Given the description of an element on the screen output the (x, y) to click on. 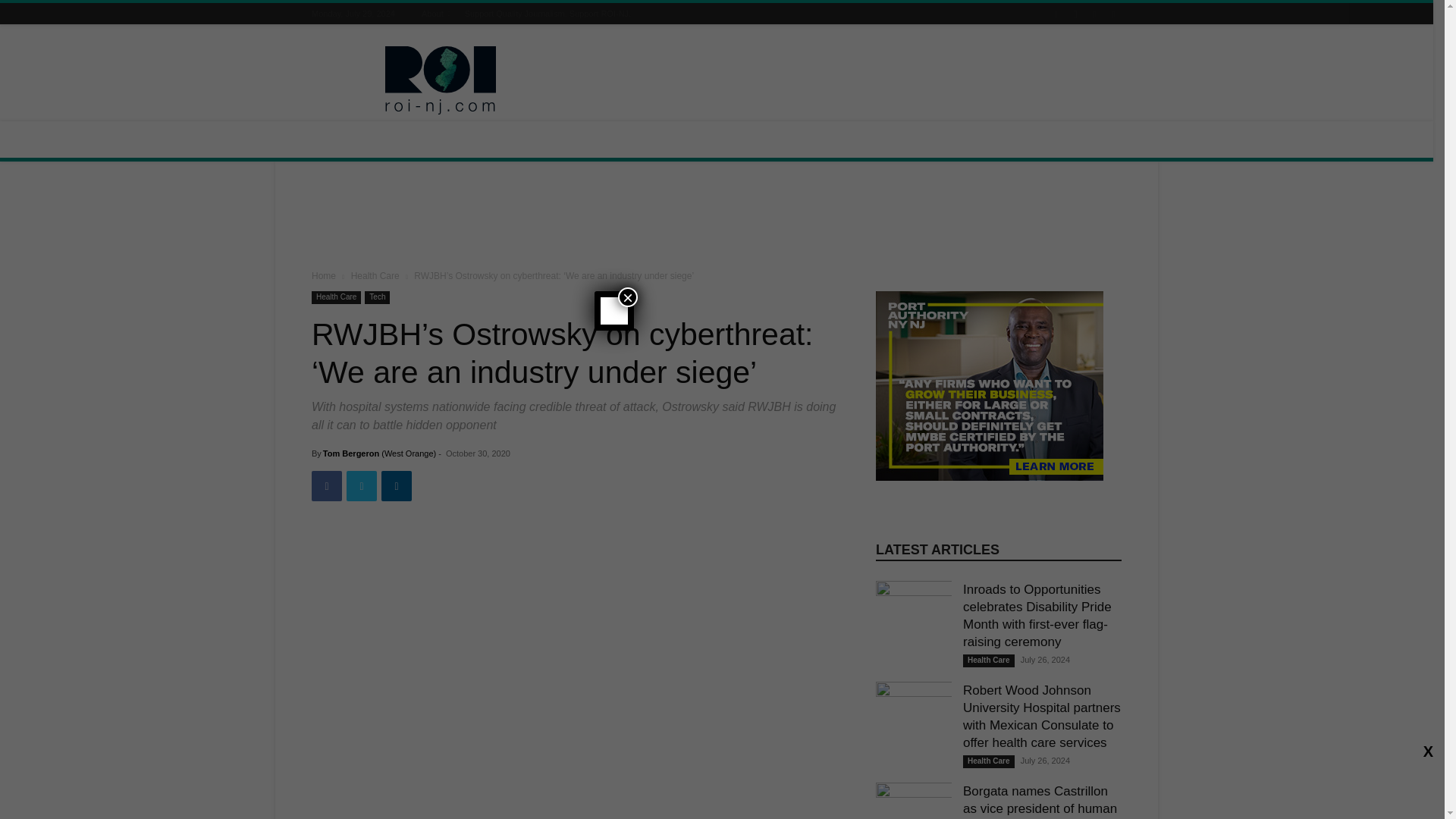
Twitter (361, 485)
Facebook (326, 485)
3rd party ad content (845, 79)
Linkedin (396, 485)
3rd party ad content (716, 218)
View all posts in Health Care (374, 276)
